Given the description of an element on the screen output the (x, y) to click on. 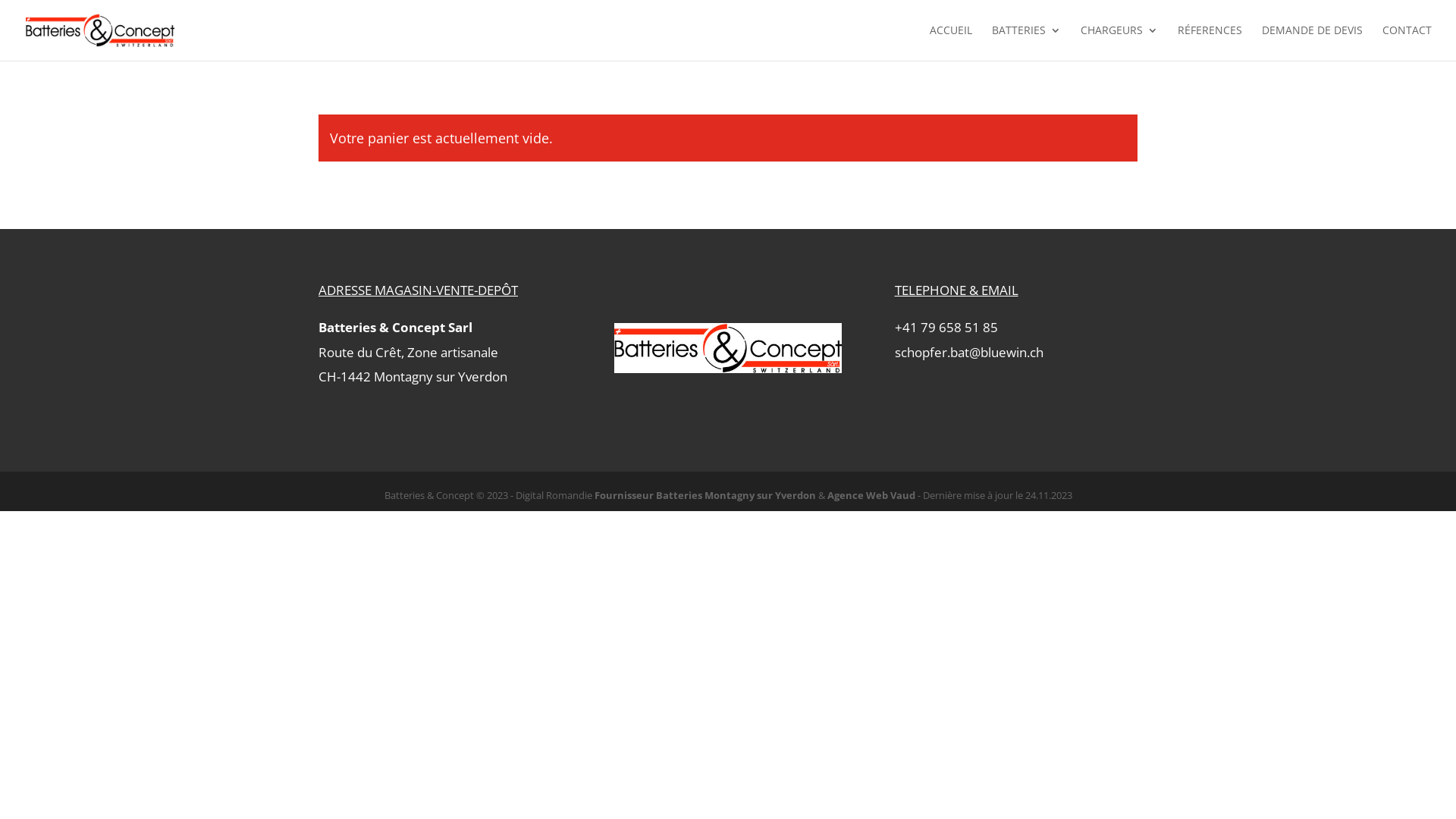
CHARGEURS Element type: text (1118, 42)
+41 79 658 51 85 Element type: text (945, 326)
ACCUEIL Element type: text (950, 42)
CONTACT Element type: text (1406, 42)
BATTERIES Element type: text (1025, 42)
Agence Web Vaud Element type: text (870, 495)
DEMANDE DE DEVIS Element type: text (1311, 42)
Fournisseur Batteries Montagny sur Yverdon Element type: text (706, 495)
